Given the description of an element on the screen output the (x, y) to click on. 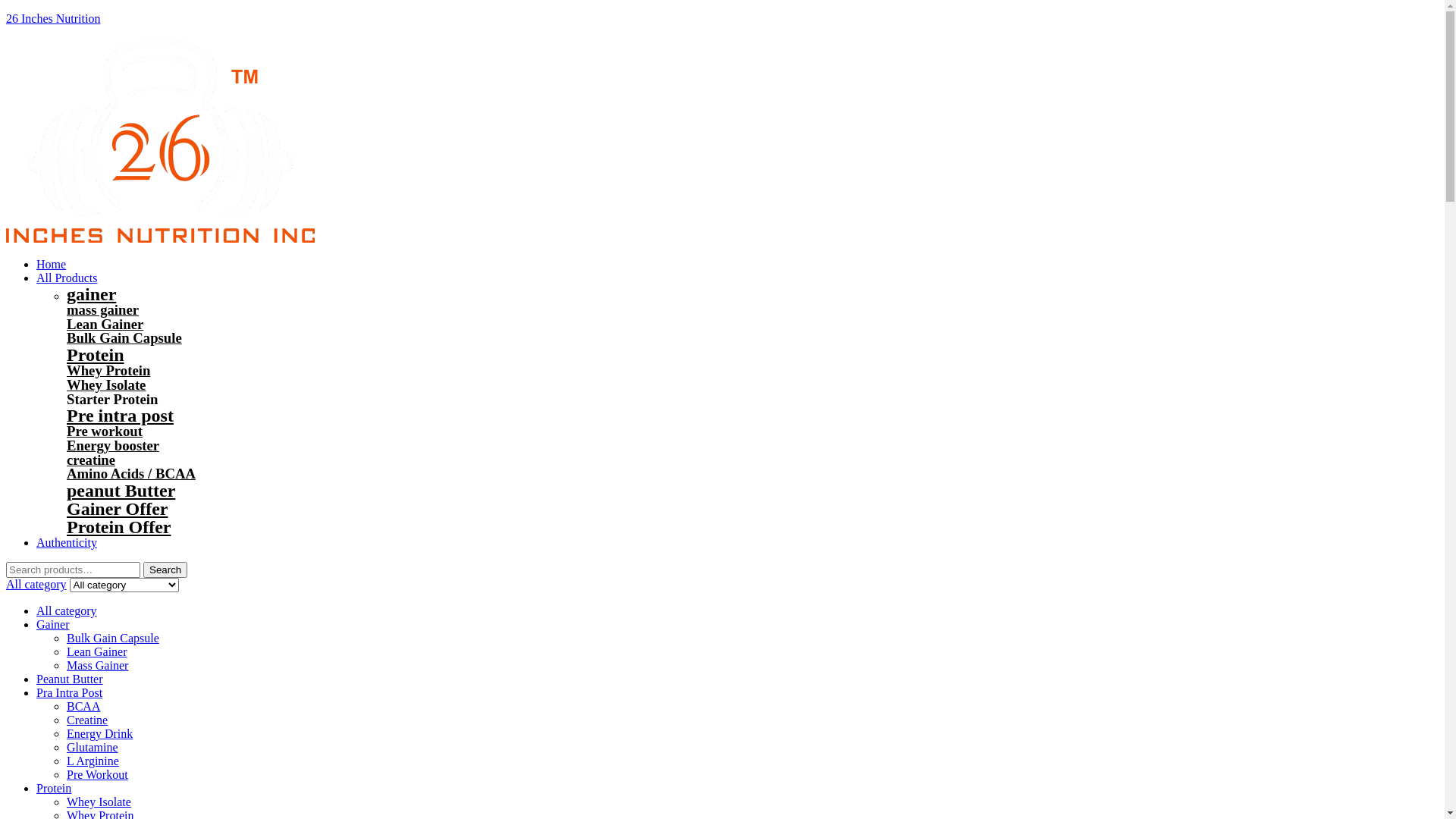
Peanut Butter Element type: text (69, 678)
26 Inches Nutrition Element type: text (53, 18)
Whey Isolate Element type: text (105, 384)
Lean Gainer Element type: text (104, 324)
Pre intra post Element type: text (119, 415)
Protein Offer Element type: text (118, 526)
Glutamine Element type: text (92, 746)
Home Element type: text (50, 263)
Pre workout Element type: text (104, 431)
Whey Protein Element type: text (108, 370)
Creatine Element type: text (86, 719)
BCAA Element type: text (83, 705)
Gainer Offer Element type: text (117, 508)
All category Element type: text (66, 610)
All category Element type: text (36, 583)
Protein Element type: text (53, 787)
Lean Gainer Element type: text (96, 651)
Pre Workout Element type: text (97, 774)
Bulk Gain Capsule Element type: text (124, 337)
Amino Acids / BCAA Element type: text (130, 473)
Energy booster Element type: text (112, 445)
Search Element type: text (165, 569)
Protein Element type: text (95, 354)
Whey Isolate Element type: text (98, 801)
Mass Gainer Element type: text (97, 664)
L Arginine Element type: text (92, 760)
peanut Butter Element type: text (120, 490)
gainer Element type: text (91, 294)
All Products Element type: text (66, 277)
Gainer Element type: text (52, 624)
Bulk Gain Capsule Element type: text (112, 637)
creatine Element type: text (90, 459)
mass gainer Element type: text (102, 309)
Energy Drink Element type: text (99, 733)
Authenticity Element type: text (66, 542)
Pra Intra Post Element type: text (69, 692)
